Given the description of an element on the screen output the (x, y) to click on. 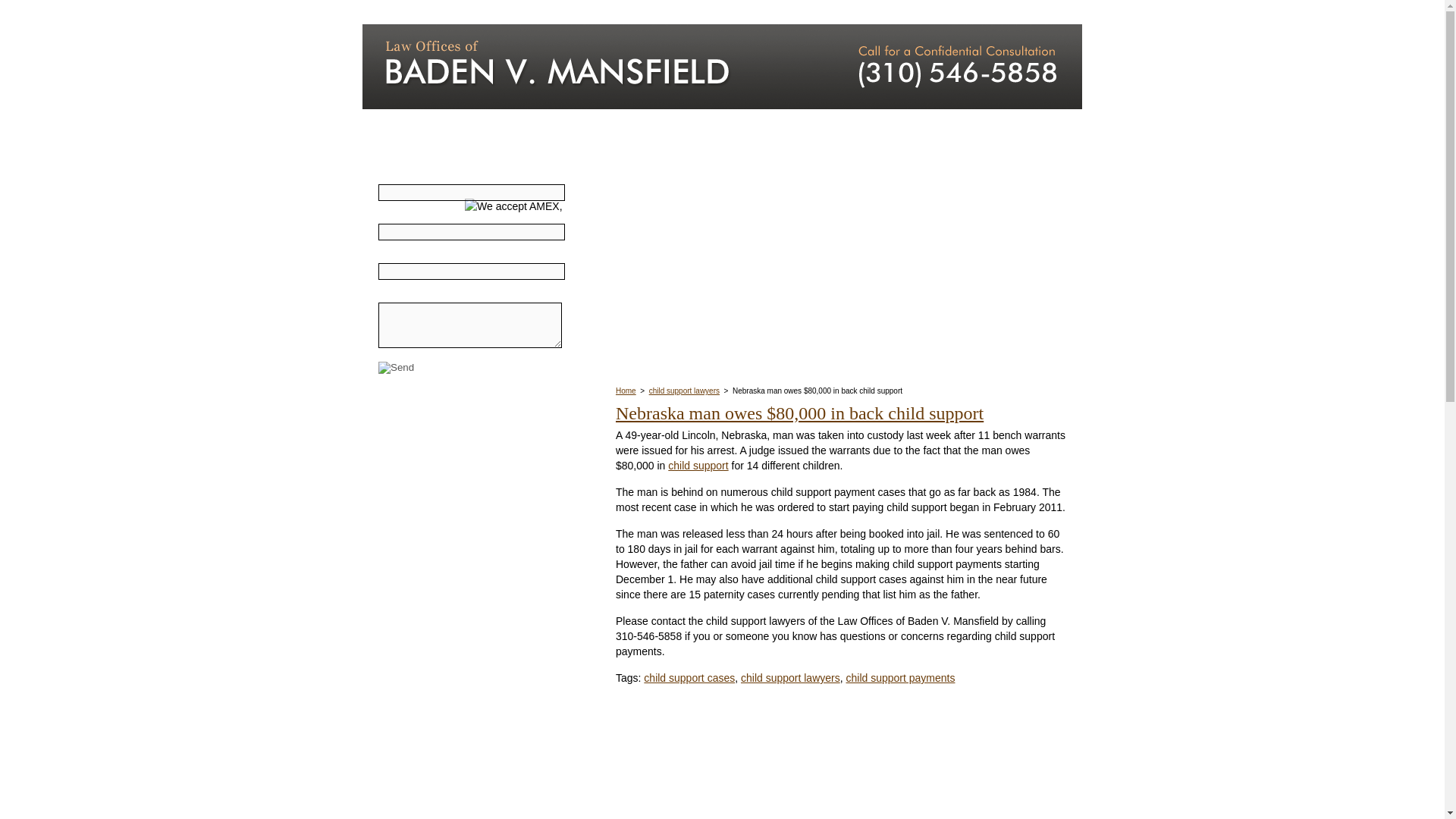
Home (625, 390)
Make a Payment (542, 391)
Paternity Tests (432, 557)
Practice Areas (517, 12)
Send (395, 367)
Manhattan Beach Divorce Lawyer (587, 67)
Case Results (785, 12)
Phone (471, 231)
Divorce (414, 443)
Home (405, 12)
